Given the description of an element on the screen output the (x, y) to click on. 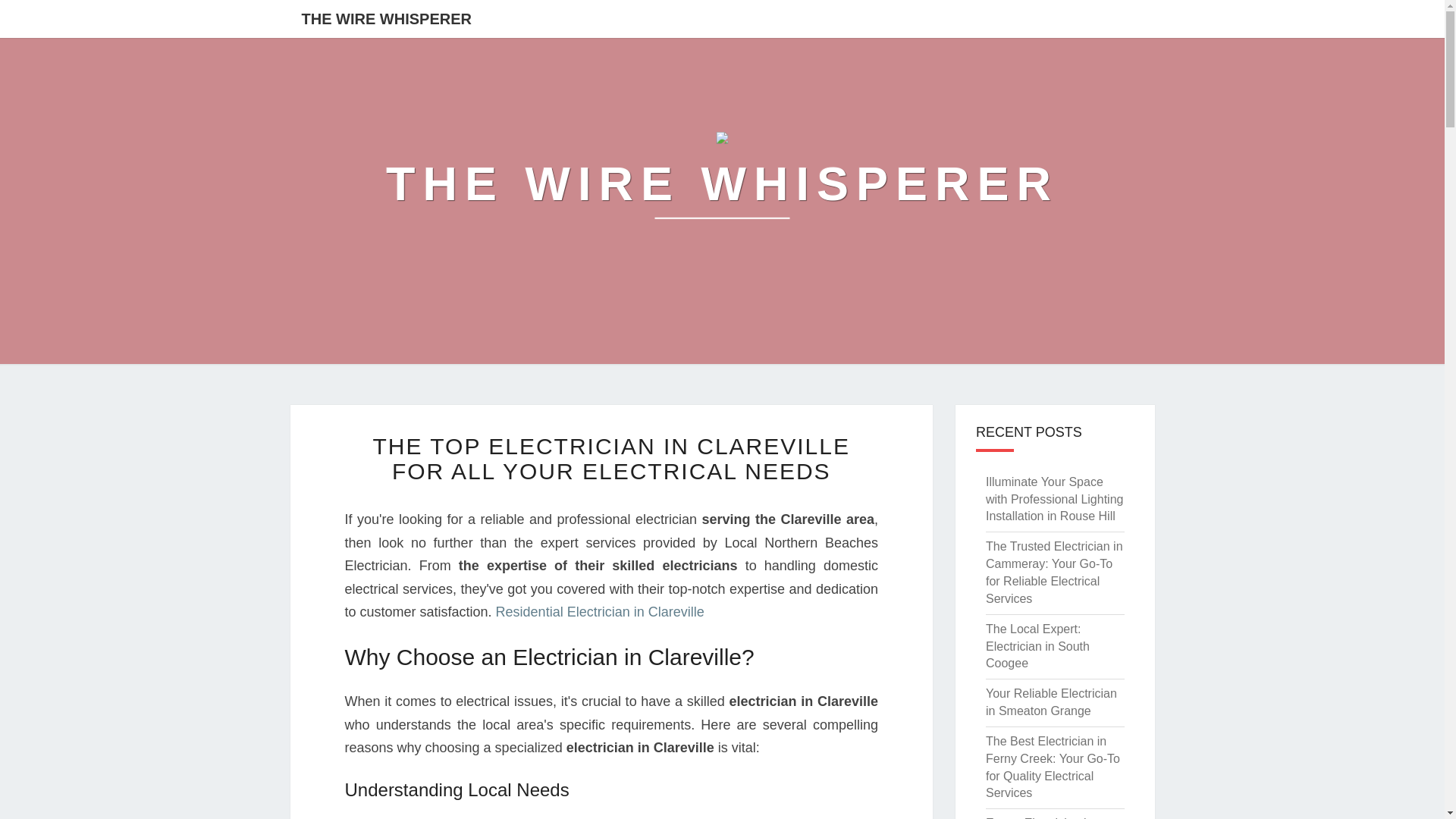
THE WIRE WHISPERER (721, 184)
Your Reliable Electrician in Smeaton Grange (1050, 702)
THE WIRE WHISPERER (385, 18)
Residential Electrician in Clareville (600, 611)
The Local Expert: Electrician in South Coogee (1037, 646)
The Wire Whisperer (721, 184)
